Given the description of an element on the screen output the (x, y) to click on. 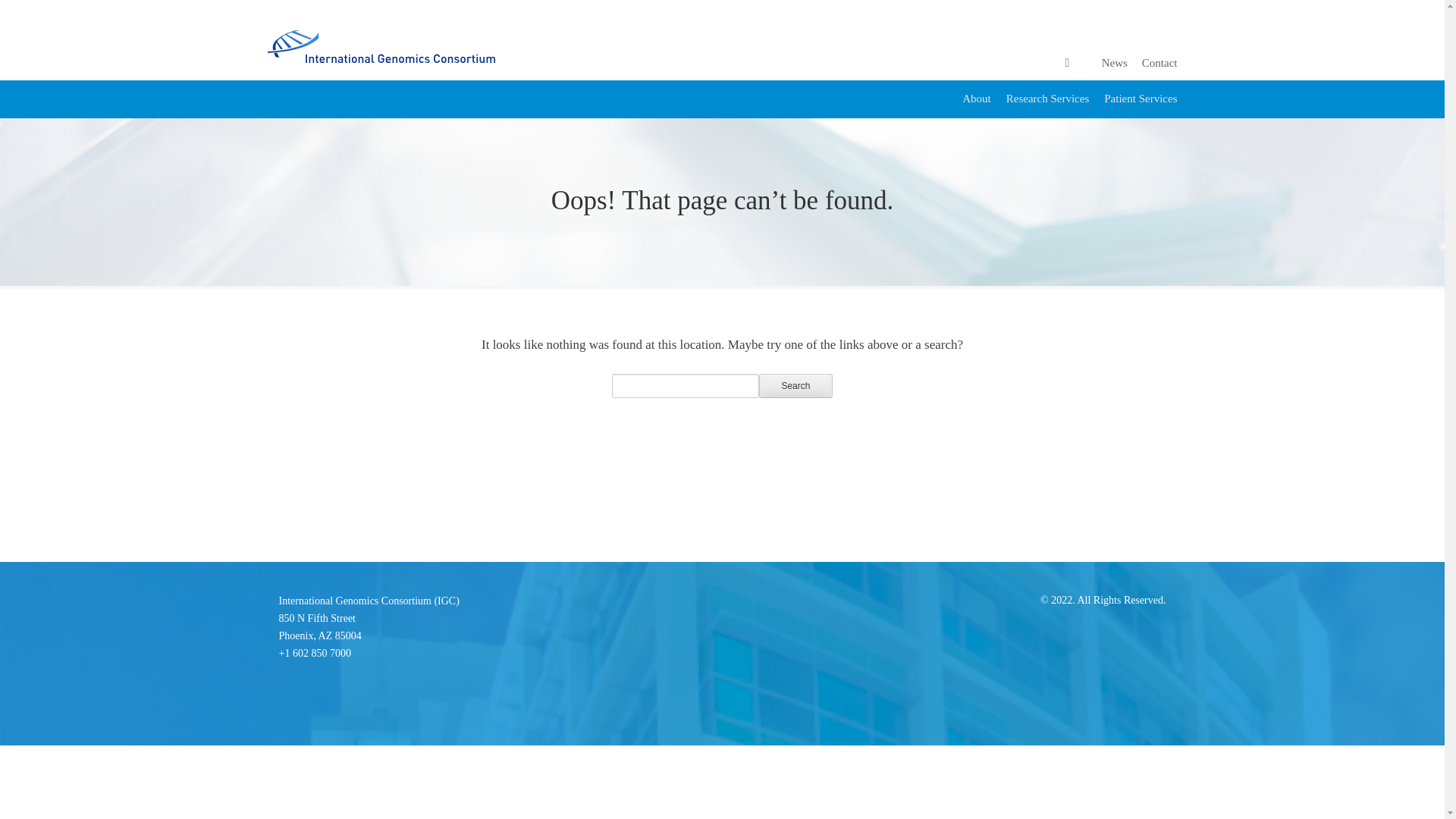
Research Services (1047, 98)
News (1114, 62)
Search (795, 385)
Patient Services (1139, 98)
Search (795, 385)
Contact (320, 626)
Search (1159, 62)
